Given the description of an element on the screen output the (x, y) to click on. 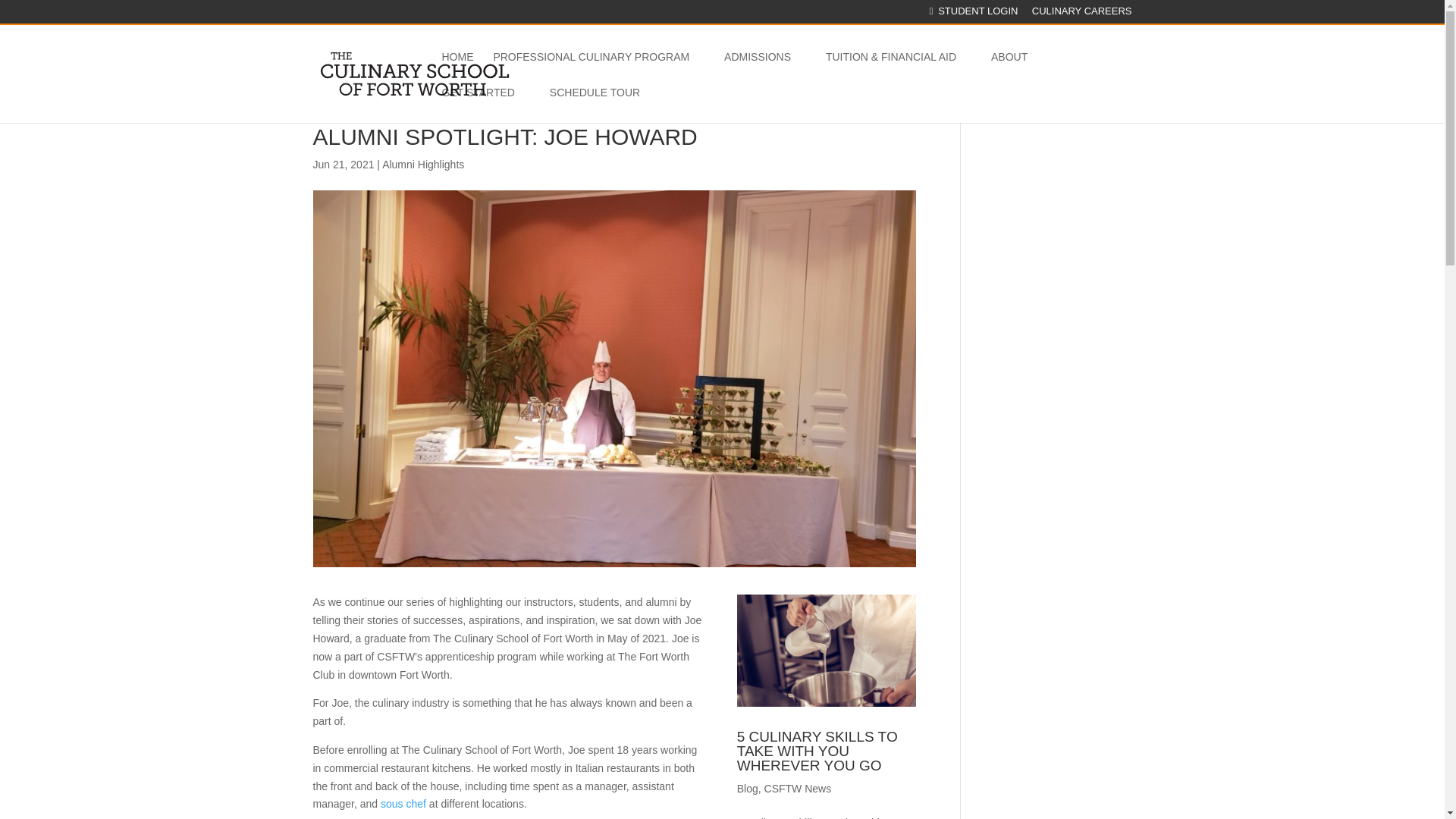
SCHEDULE TOUR (595, 104)
HOME (457, 68)
CULINARY CAREERS (1082, 14)
STUDENT LOGIN (972, 14)
ABOUT (1016, 68)
GET STARTED (485, 104)
PROFESSIONAL CULINARY PROGRAM (598, 68)
ADMISSIONS (764, 68)
